Given the description of an element on the screen output the (x, y) to click on. 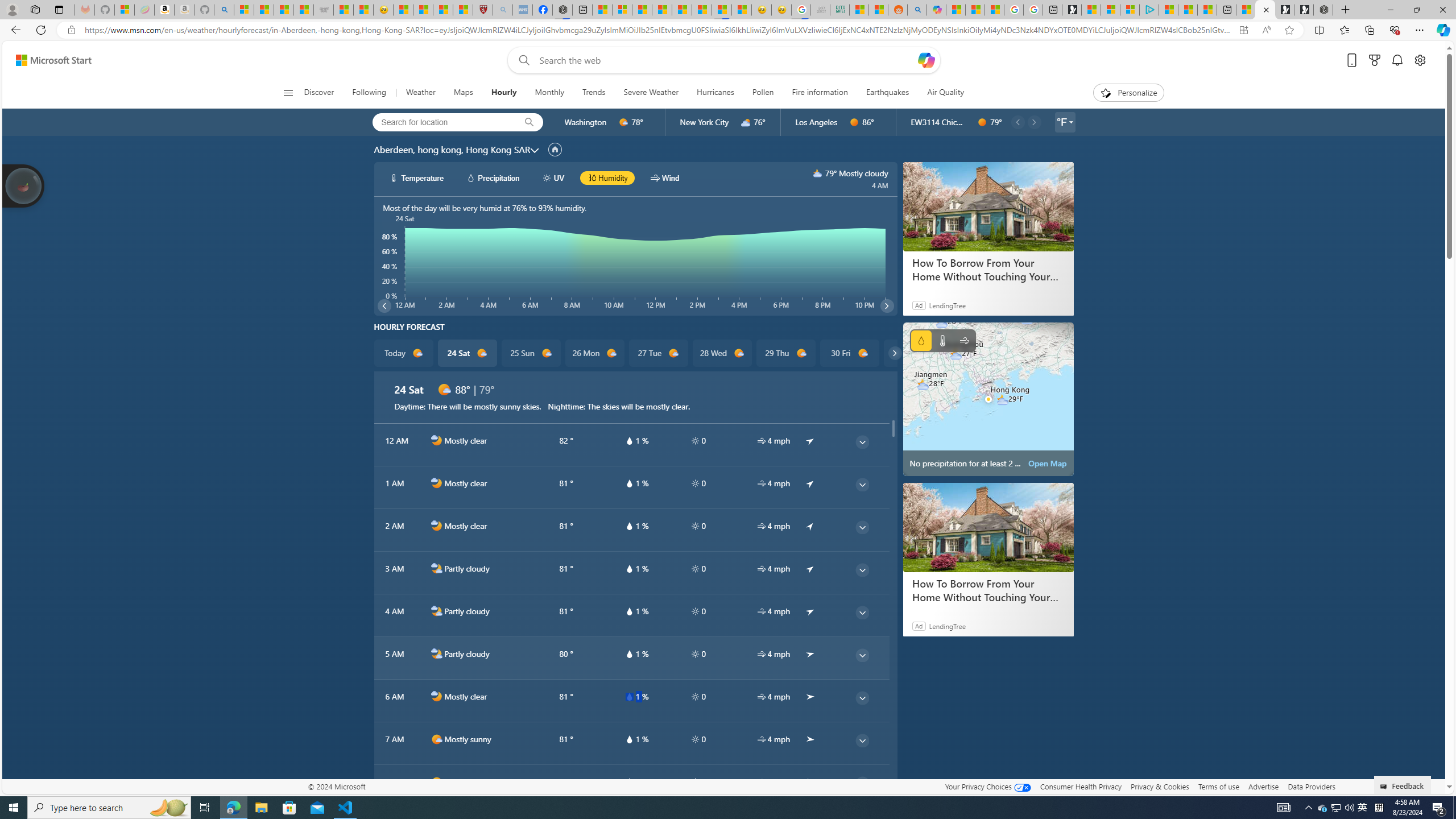
Fire information (819, 92)
Today d1000 (403, 352)
Severe Weather (651, 92)
hourlyChart/humidityBlack (591, 177)
common/carouselChevron (894, 352)
